Given the description of an element on the screen output the (x, y) to click on. 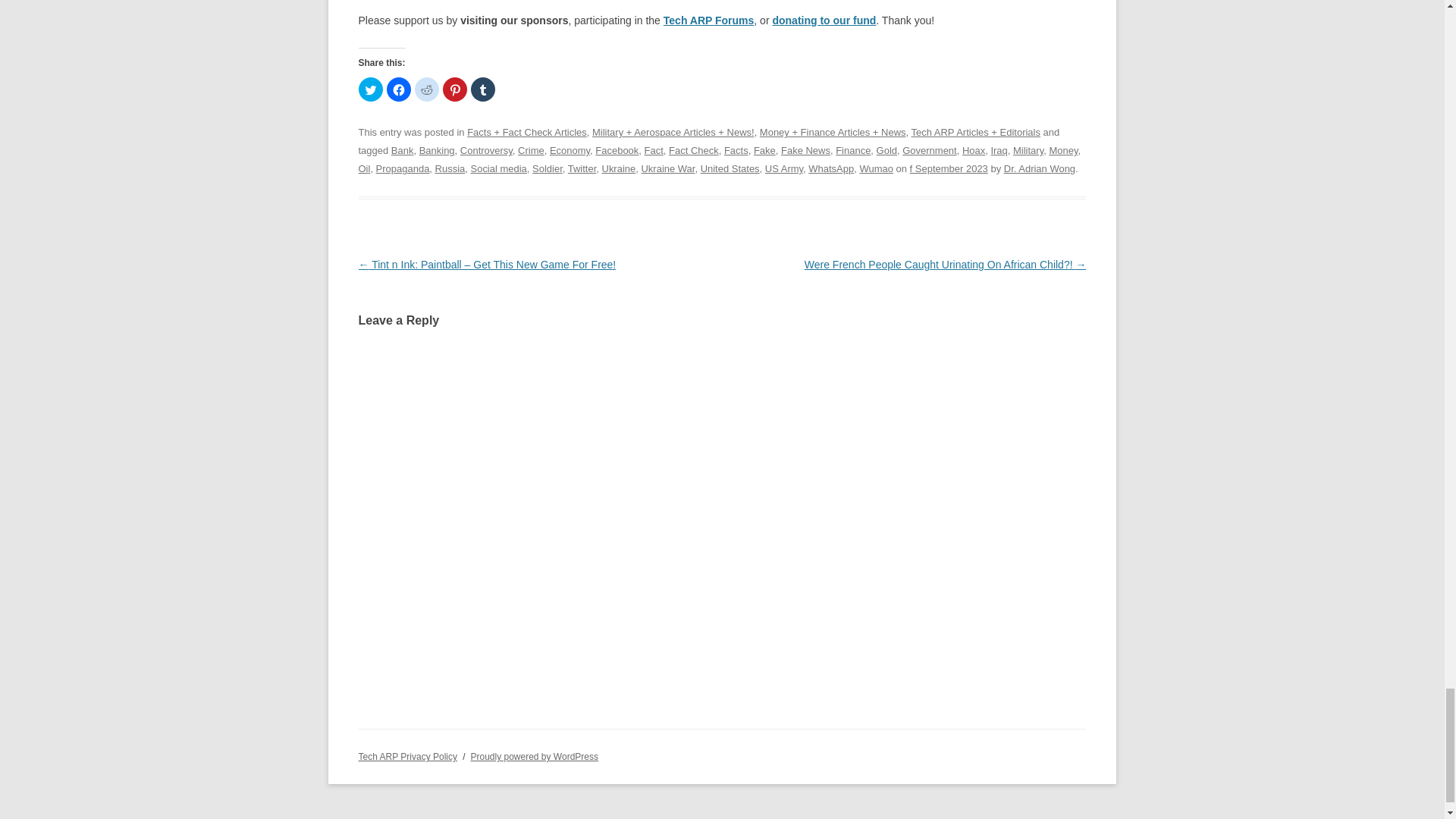
Banking (436, 150)
Semantic Personal Publishing Platform (534, 756)
Click to share on Facebook (398, 88)
Controversy (486, 150)
Click to share on Pinterest (454, 88)
Click to share on Twitter (369, 88)
Click to share on Tumblr (482, 88)
Bank (402, 150)
Click to share on Reddit (425, 88)
8:08 am (949, 168)
Facebook (617, 150)
View all posts by Dr. Adrian Wong (1039, 168)
Tech ARP Forums (708, 20)
Economy (569, 150)
donating to our fund (823, 20)
